Given the description of an element on the screen output the (x, y) to click on. 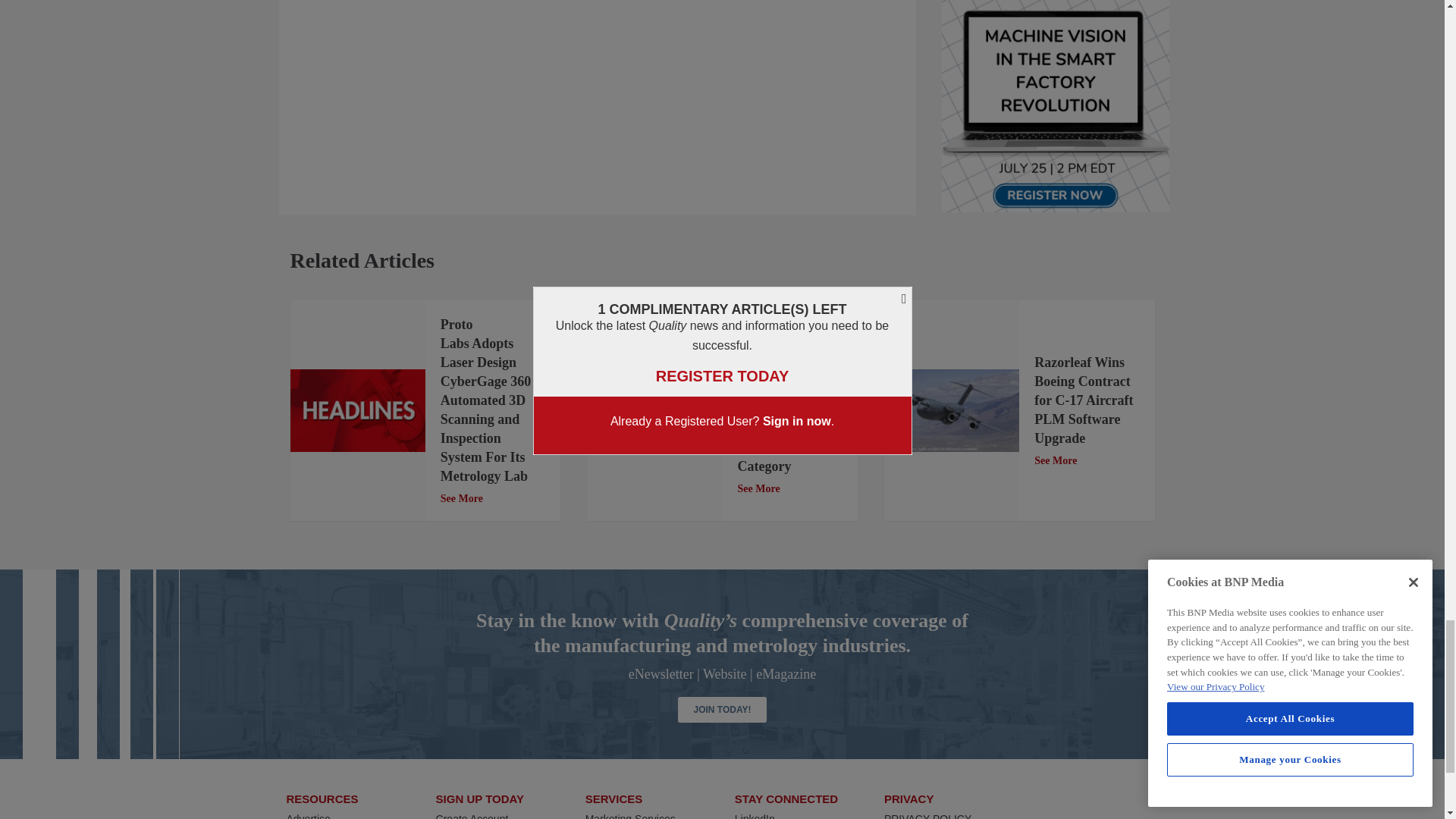
Headlines.jpg (357, 410)
Razorleaf Boeing C-17 software (951, 410)
Hexagon.jpg (654, 409)
